Given the description of an element on the screen output the (x, y) to click on. 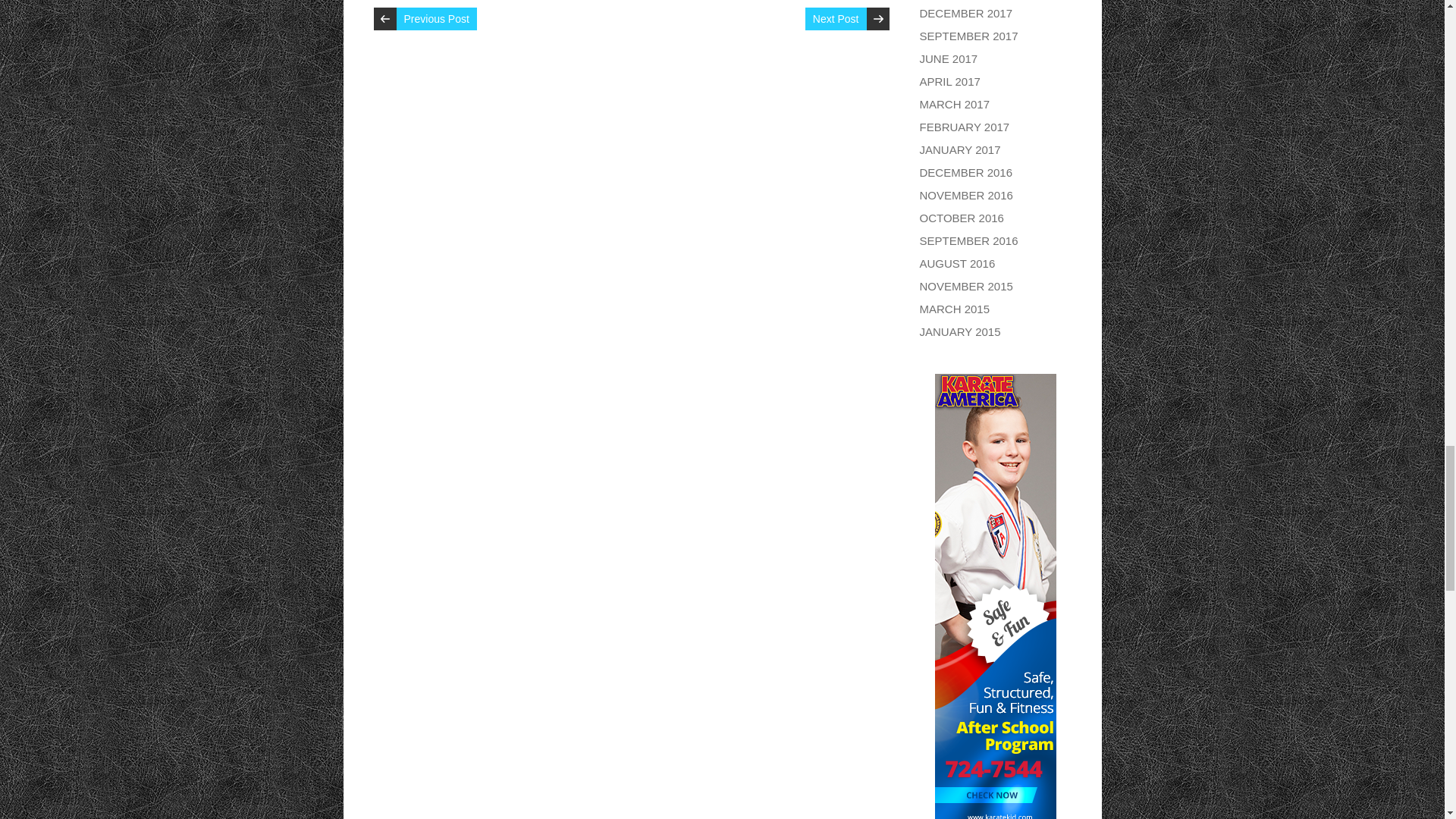
Previous Post (436, 18)
Next Post (835, 18)
